Given the description of an element on the screen output the (x, y) to click on. 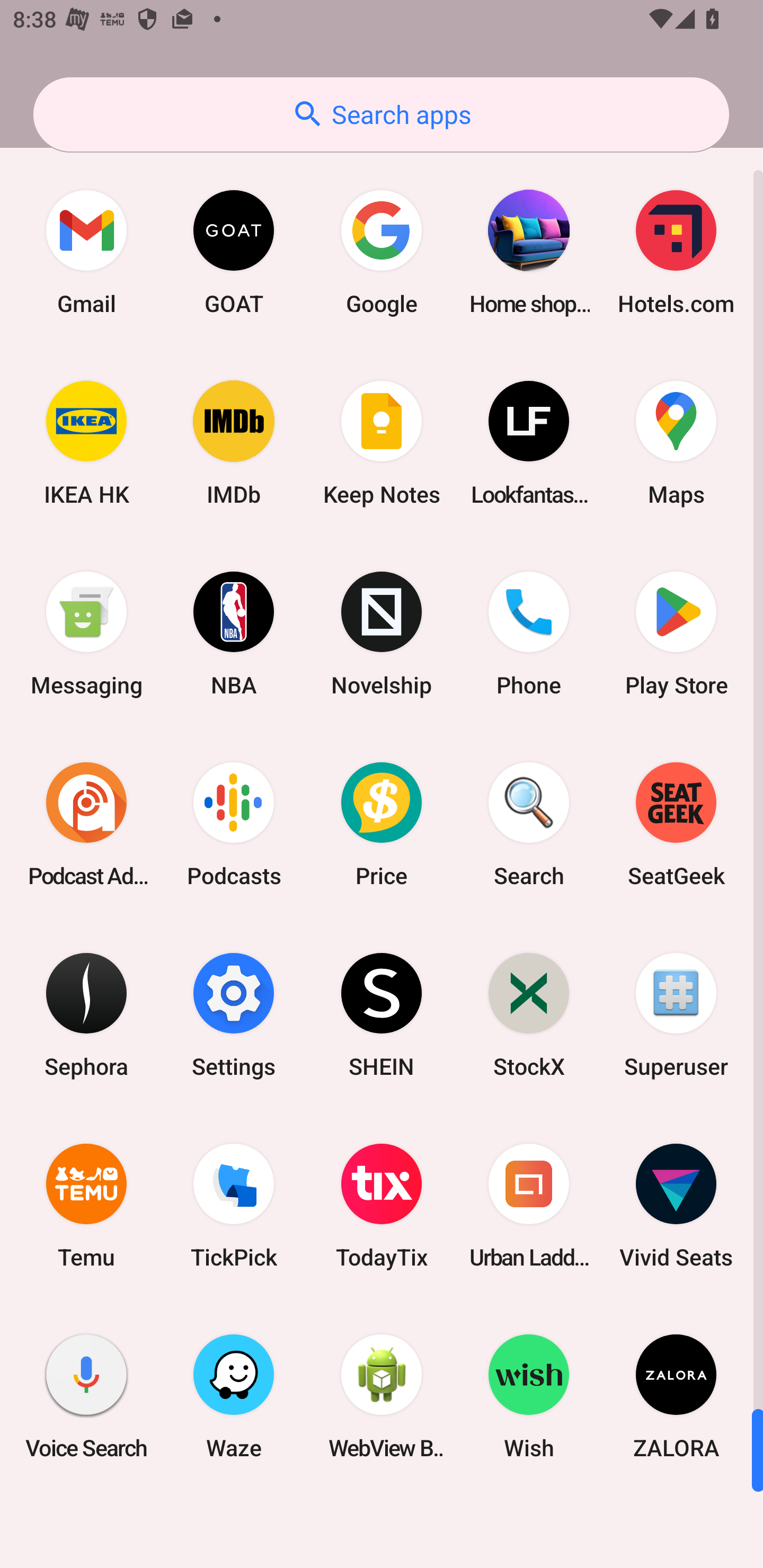
  Search apps (381, 114)
Gmail (86, 252)
GOAT (233, 252)
Google (381, 252)
Home shopping (528, 252)
Hotels.com (676, 252)
IKEA HK (86, 442)
IMDb (233, 442)
Keep Notes (381, 442)
Lookfantastic (528, 442)
Maps (676, 442)
Messaging (86, 633)
NBA (233, 633)
Novelship (381, 633)
Phone (528, 633)
Play Store (676, 633)
Podcast Addict (86, 823)
Podcasts (233, 823)
Price (381, 823)
Search (528, 823)
SeatGeek (676, 823)
Sephora (86, 1014)
Settings (233, 1014)
SHEIN (381, 1014)
StockX (528, 1014)
Superuser (676, 1014)
Temu (86, 1205)
TickPick (233, 1205)
TodayTix (381, 1205)
Urban Ladder (528, 1205)
Vivid Seats (676, 1205)
Voice Search (86, 1396)
Waze (233, 1396)
WebView Browser Tester (381, 1396)
Wish (528, 1396)
ZALORA (676, 1396)
